Given the description of an element on the screen output the (x, y) to click on. 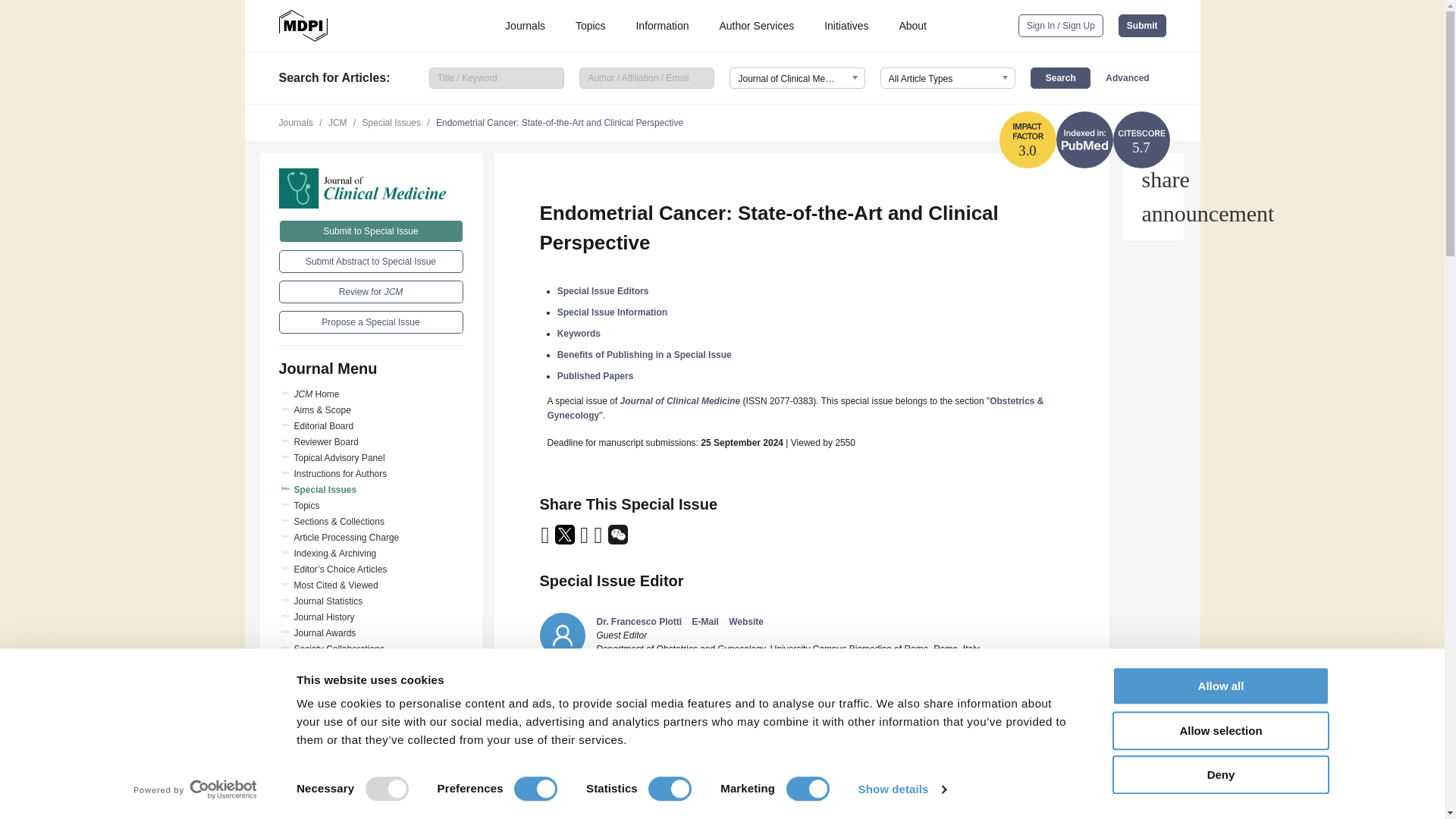
Search (1060, 77)
Go (371, 801)
Search (1060, 77)
Show details (900, 789)
